Given the description of an element on the screen output the (x, y) to click on. 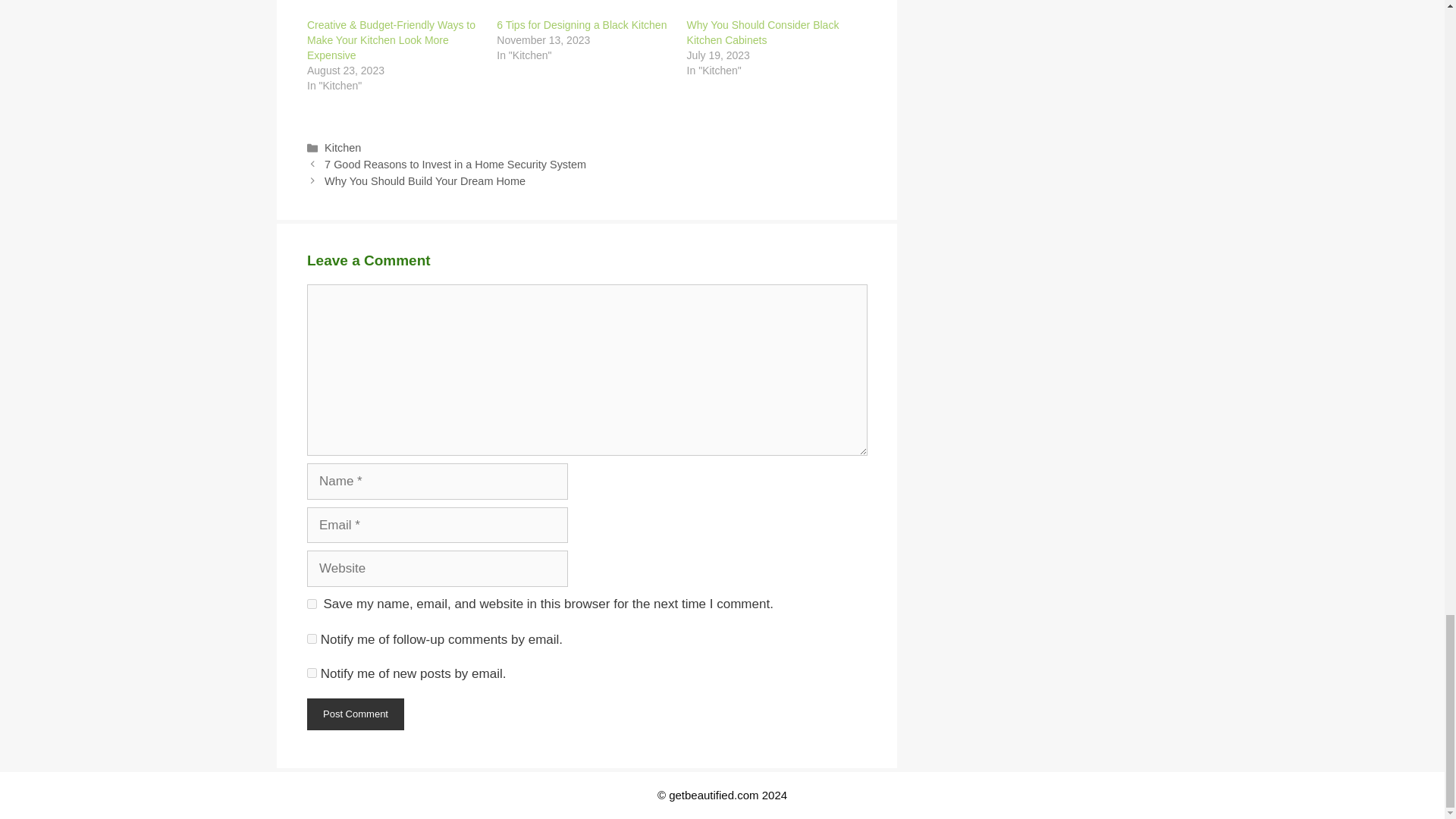
Why You Should Consider Black Kitchen Cabinets (763, 31)
Post Comment (355, 714)
6 Tips for Designing a Black Kitchen (583, 8)
7 Good Reasons to Invest in a Home Security System (455, 164)
subscribe (312, 673)
Kitchen (342, 147)
Why You Should Build Your Dream Home (424, 181)
Why You Should Consider Black Kitchen Cabinets (763, 31)
subscribe (312, 638)
Post Comment (355, 714)
yes (312, 603)
6 Tips for Designing a Black Kitchen (581, 24)
6 Tips for Designing a Black Kitchen (581, 24)
Why You Should Consider Black Kitchen Cabinets (774, 8)
